Given the description of an element on the screen output the (x, y) to click on. 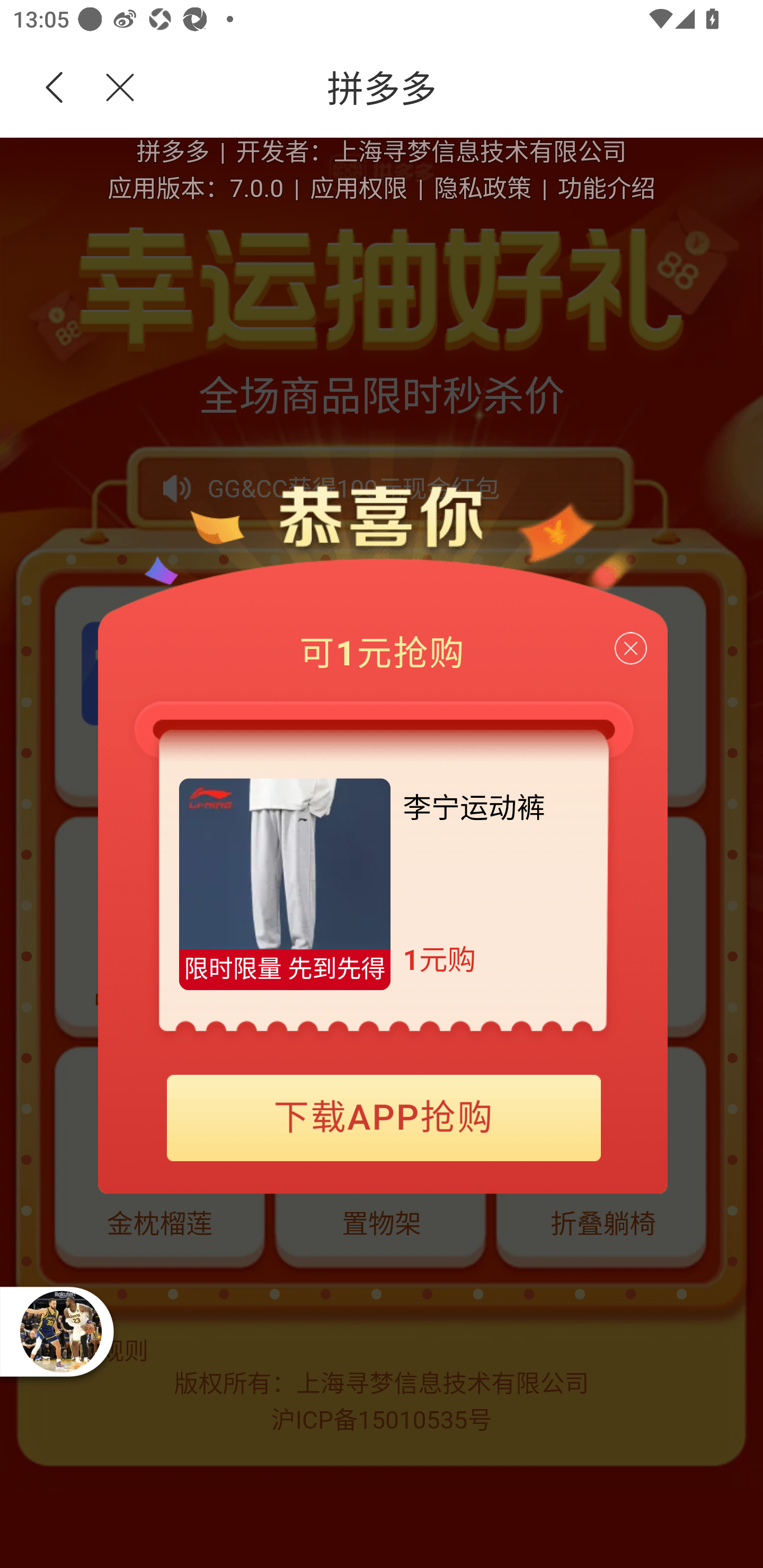
 (109, 87)
拼多多 (451, 87)
 返回 (54, 87)
播放器 (60, 1331)
